Given the description of an element on the screen output the (x, y) to click on. 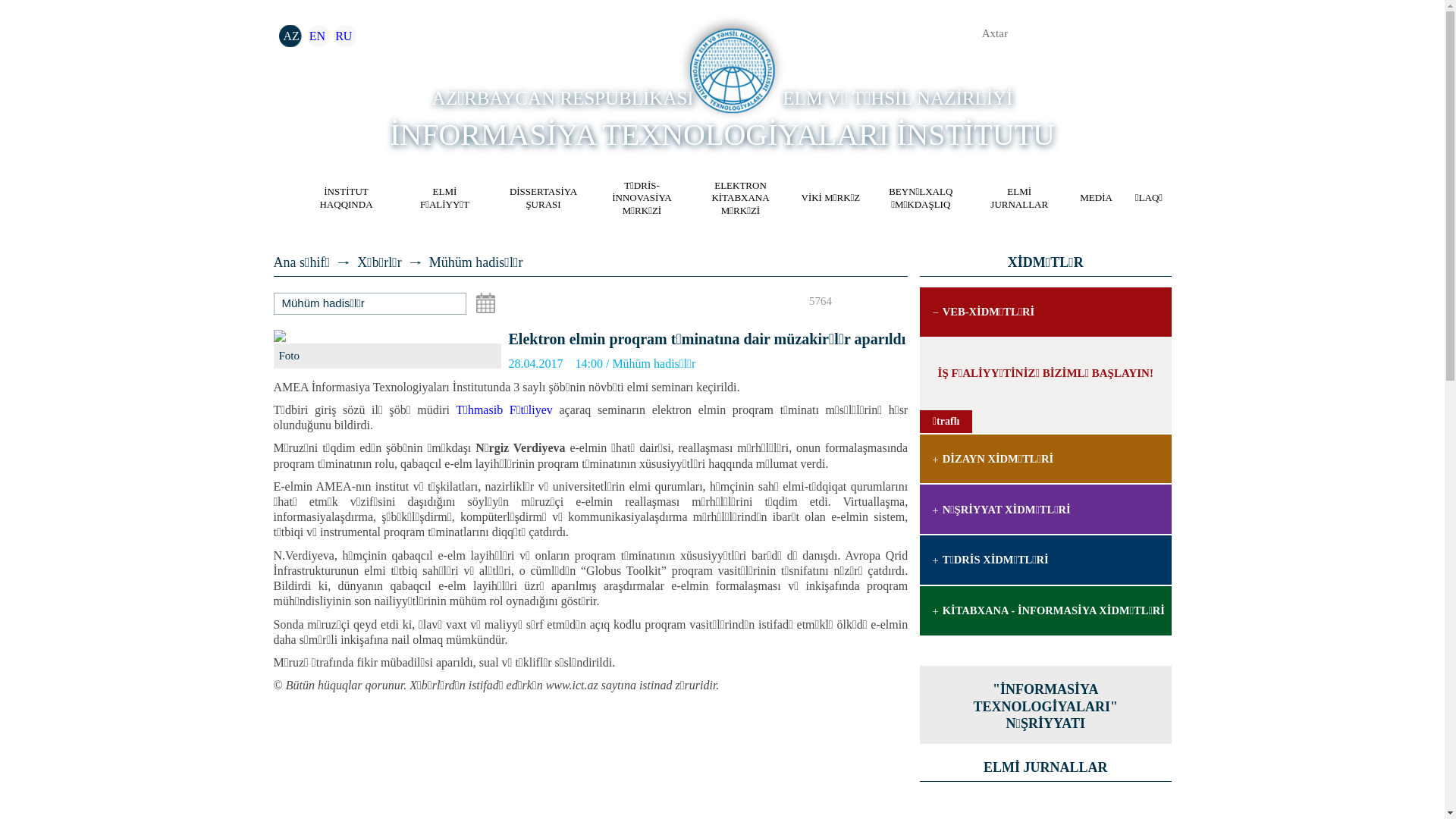
a Element type: text (451, 29)
5764 Element type: text (809, 301)
sa Element type: text (848, 301)
a Element type: text (903, 34)
EN Element type: text (316, 36)
a Element type: text (876, 34)
AZ Element type: text (291, 36)
HOME Element type: text (275, 197)
sa Element type: text (871, 301)
Foto Element type: text (298, 355)
RU Element type: text (343, 36)
a Element type: text (934, 34)
sa Element type: text (896, 301)
